Given the description of an element on the screen output the (x, y) to click on. 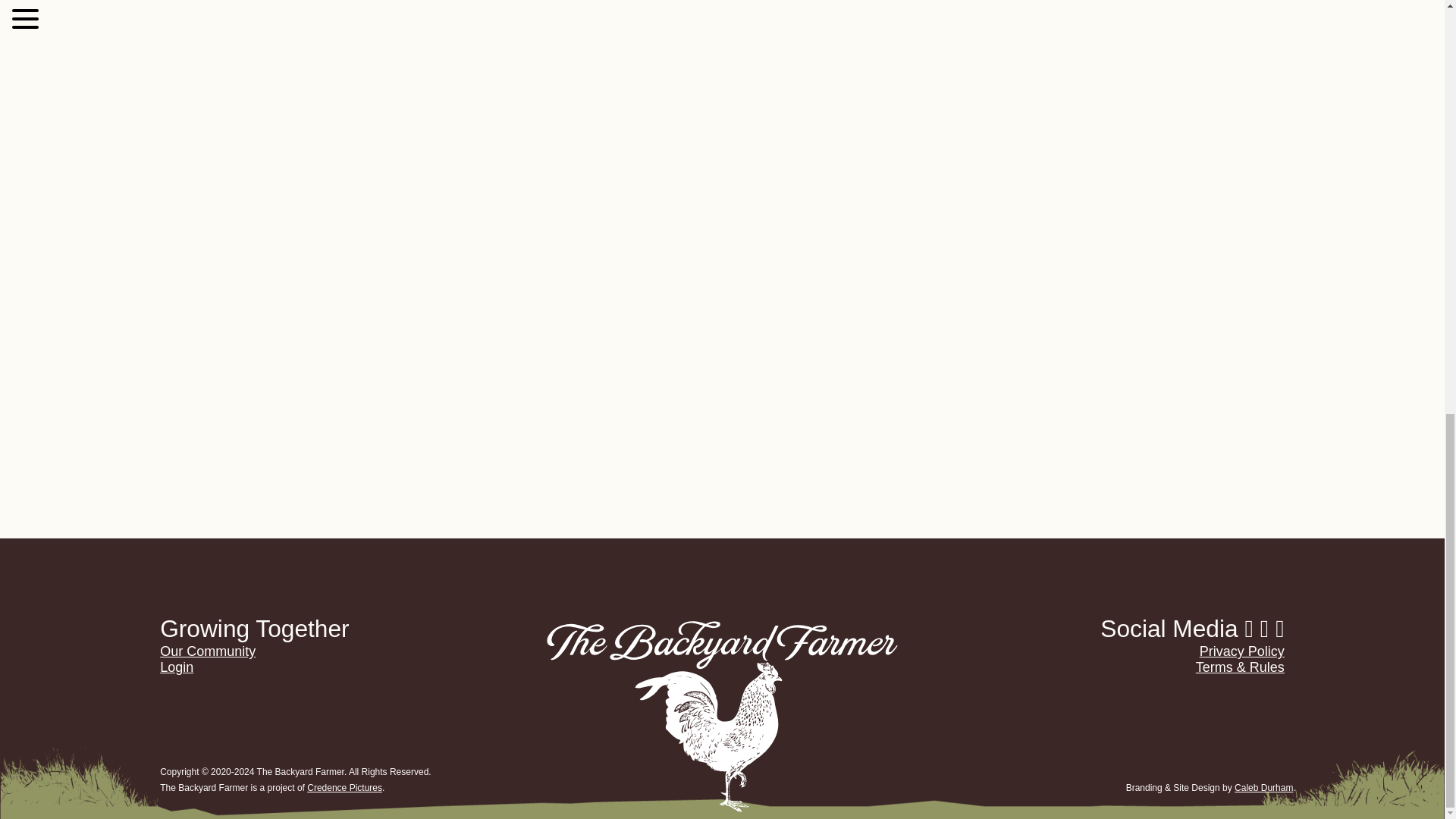
Caleb Durham (1263, 787)
Privacy Policy (1241, 651)
Credence Pictures (344, 787)
Login (176, 667)
Our Community (208, 651)
